Given the description of an element on the screen output the (x, y) to click on. 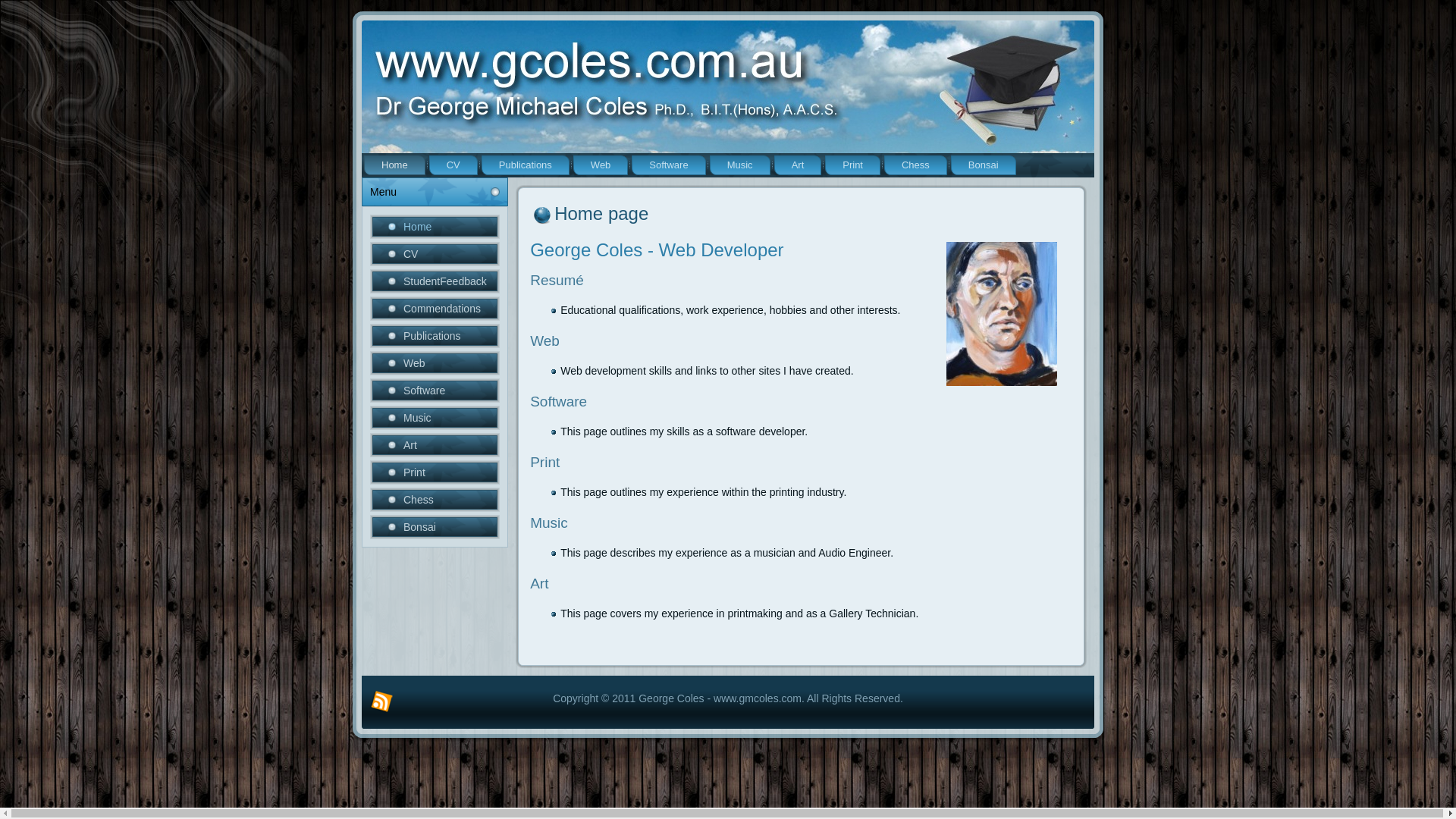
  Software Element type: text (434, 390)
  Art Element type: text (434, 445)
  CV Element type: text (434, 253)
  StudentFeedback Element type: text (434, 281)
  Music Element type: text (434, 417)
  Art Element type: text (798, 165)
  Bonsai Element type: text (983, 165)
  Chess Element type: text (915, 165)
  Publications Element type: text (434, 335)
  Home Element type: text (394, 165)
  Web Element type: text (434, 363)
  Web Element type: text (600, 165)
  Chess Element type: text (434, 499)
  Print Element type: text (852, 165)
  Software Element type: text (668, 165)
  Commendations Element type: text (434, 308)
  CV Element type: text (453, 165)
  Bonsai Element type: text (434, 526)
  Publications Element type: text (525, 165)
  Music Element type: text (739, 165)
  Home Element type: text (434, 226)
  Print Element type: text (434, 472)
